Given the description of an element on the screen output the (x, y) to click on. 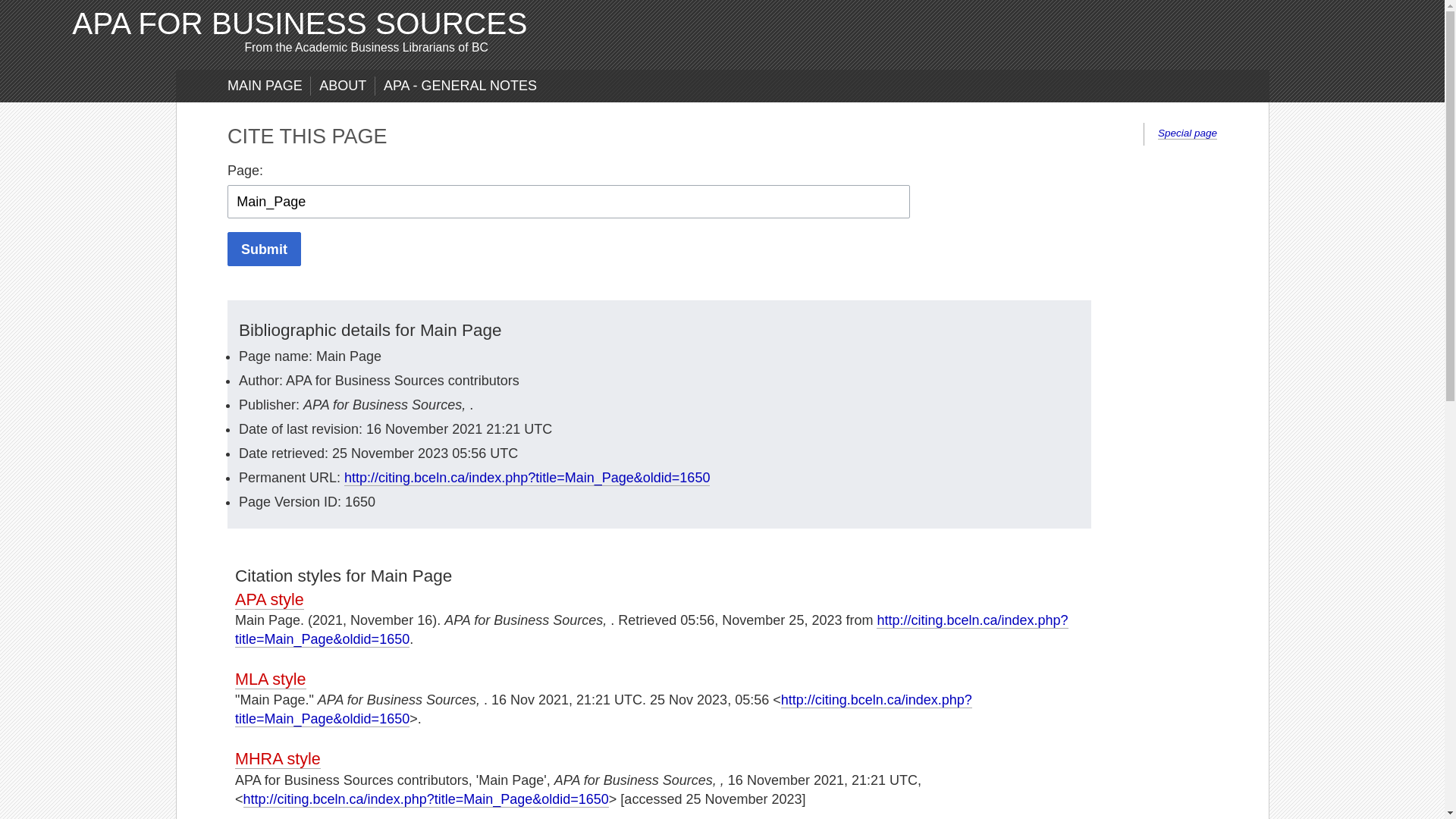
ABOUT Element type: text (342, 85)
http://citing.bceln.ca/index.php?title=Main_Page&oldid=1650 Element type: text (526, 478)
MHRA style Element type: text (277, 758)
APA - GENERAL NOTES Element type: text (459, 85)
MLA style Element type: text (270, 679)
APA style Element type: text (269, 599)
http://citing.bceln.ca/index.php?title=Main_Page&oldid=1650 Element type: text (425, 799)
http://citing.bceln.ca/index.php?title=Main_Page&oldid=1650 Element type: text (651, 629)
MAIN PAGE Element type: text (264, 85)
Special page Element type: text (1187, 133)
http://citing.bceln.ca/index.php?title=Main_Page&oldid=1650 Element type: text (603, 709)
APA FOR BUSINESS SOURCES Element type: text (299, 23)
Submit Element type: text (264, 249)
